Given the description of an element on the screen output the (x, y) to click on. 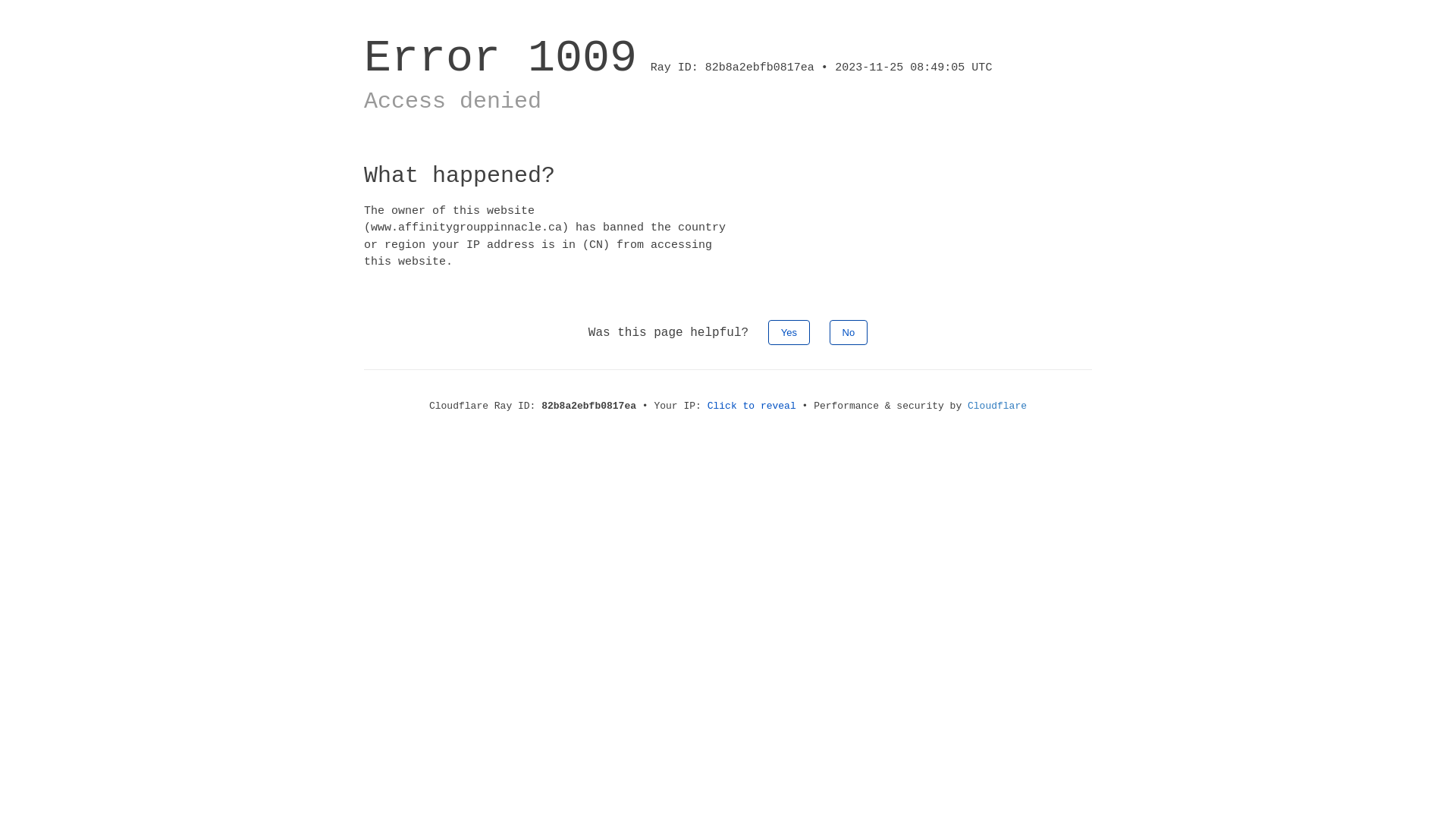
No Element type: text (848, 332)
Cloudflare Element type: text (996, 405)
Yes Element type: text (788, 332)
Click to reveal Element type: text (751, 405)
